Given the description of an element on the screen output the (x, y) to click on. 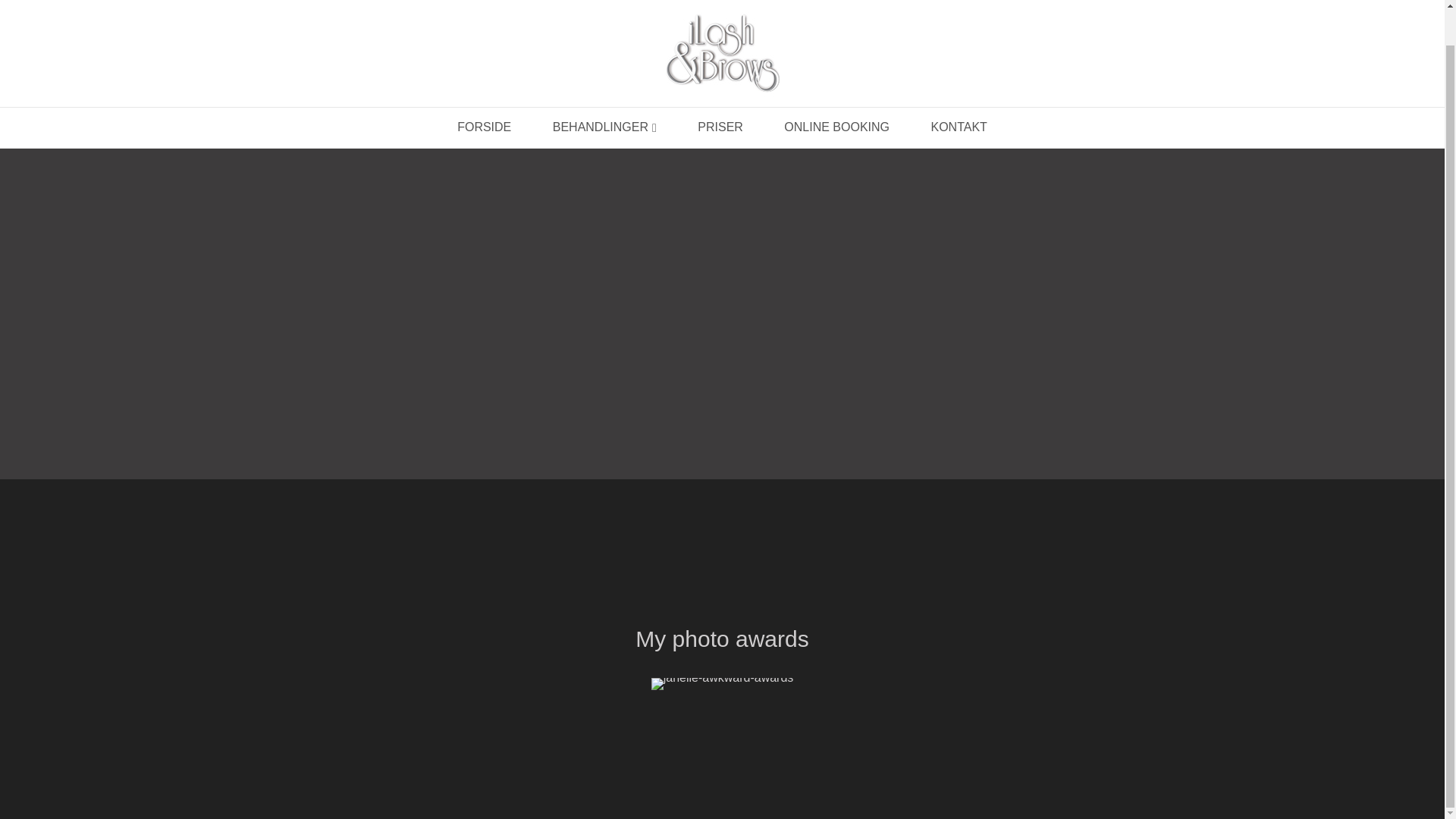
Instagram (722, 754)
FORSIDE (483, 90)
PRISER (719, 90)
BEHANDLINGER (604, 91)
Email (748, 754)
ONLINE BOOKING (836, 90)
Facebook (695, 754)
janelle-awkward-awards (721, 684)
KONTAKT (958, 90)
